Given the description of an element on the screen output the (x, y) to click on. 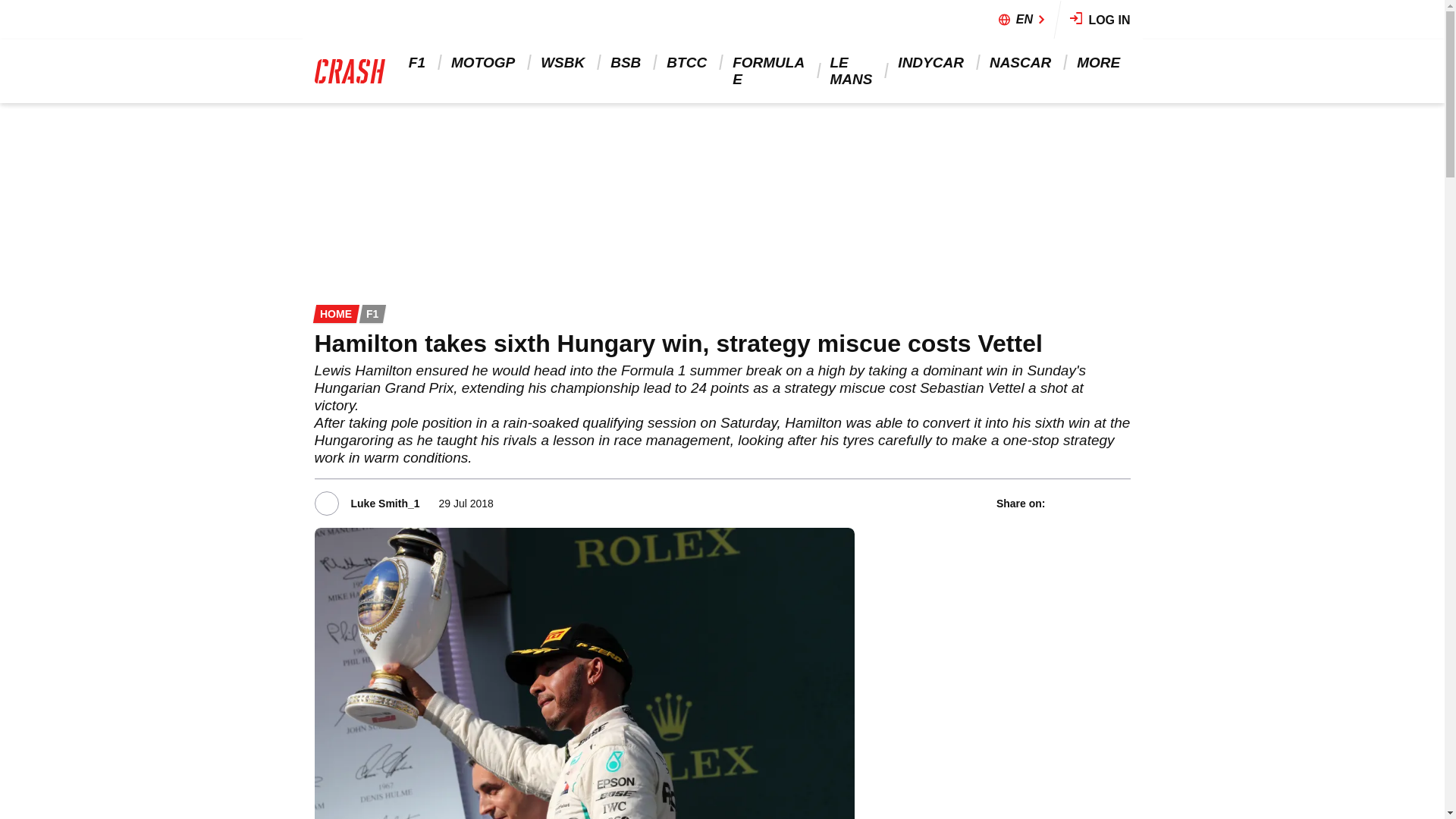
BSB (626, 62)
Share to Facebook (1060, 503)
MOTOGP (484, 62)
LOG IN (1100, 19)
F1 (418, 62)
Share to Linkedin (1099, 503)
Share to Email (1119, 503)
WSBK (563, 62)
